Given the description of an element on the screen output the (x, y) to click on. 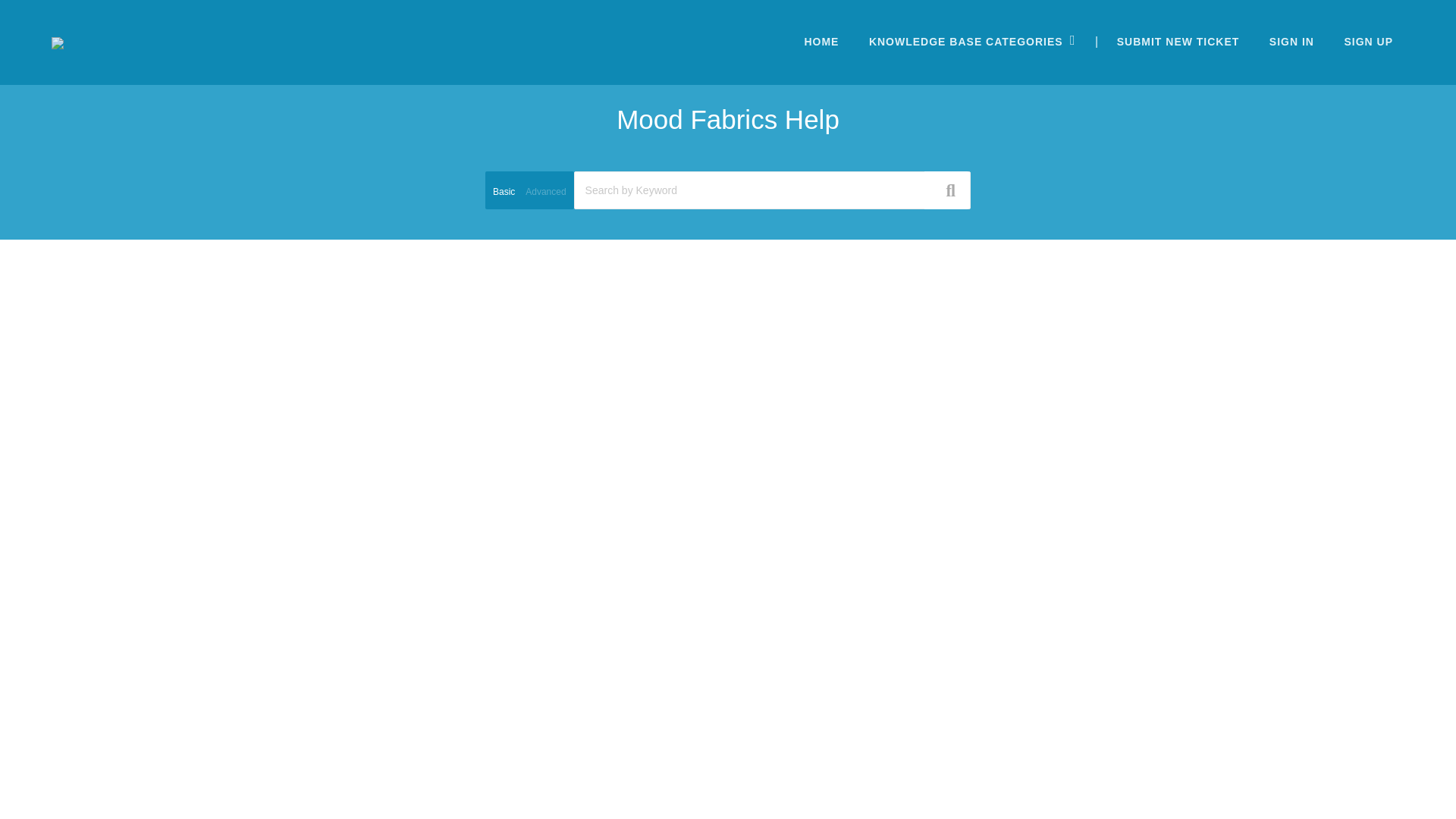
HOME (821, 41)
Search by Keyword (772, 190)
Search (727, 131)
Mood Fabrics Support Center (57, 42)
KNOWLEDGE BASE CATEGORIES (965, 41)
Search (727, 157)
SIGN IN (1290, 41)
SUBMIT NEW TICKET (1177, 41)
Advanced (545, 199)
SIGN UP (1368, 41)
Search button (946, 190)
